Given the description of an element on the screen output the (x, y) to click on. 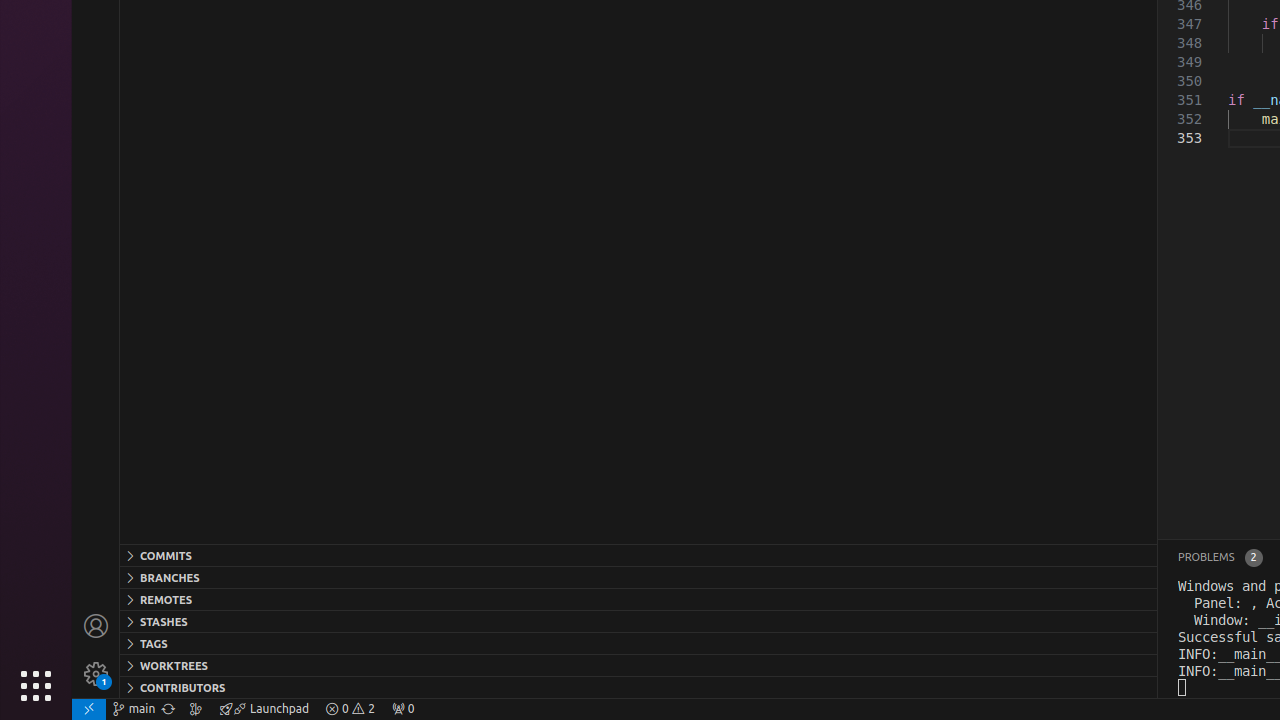
No Ports Forwarded Element type: push-button (403, 709)
Contributors Section Element type: push-button (638, 687)
Branches Section Element type: push-button (638, 577)
Stashes Section Element type: push-button (638, 621)
Accounts Element type: push-button (96, 626)
